Given the description of an element on the screen output the (x, y) to click on. 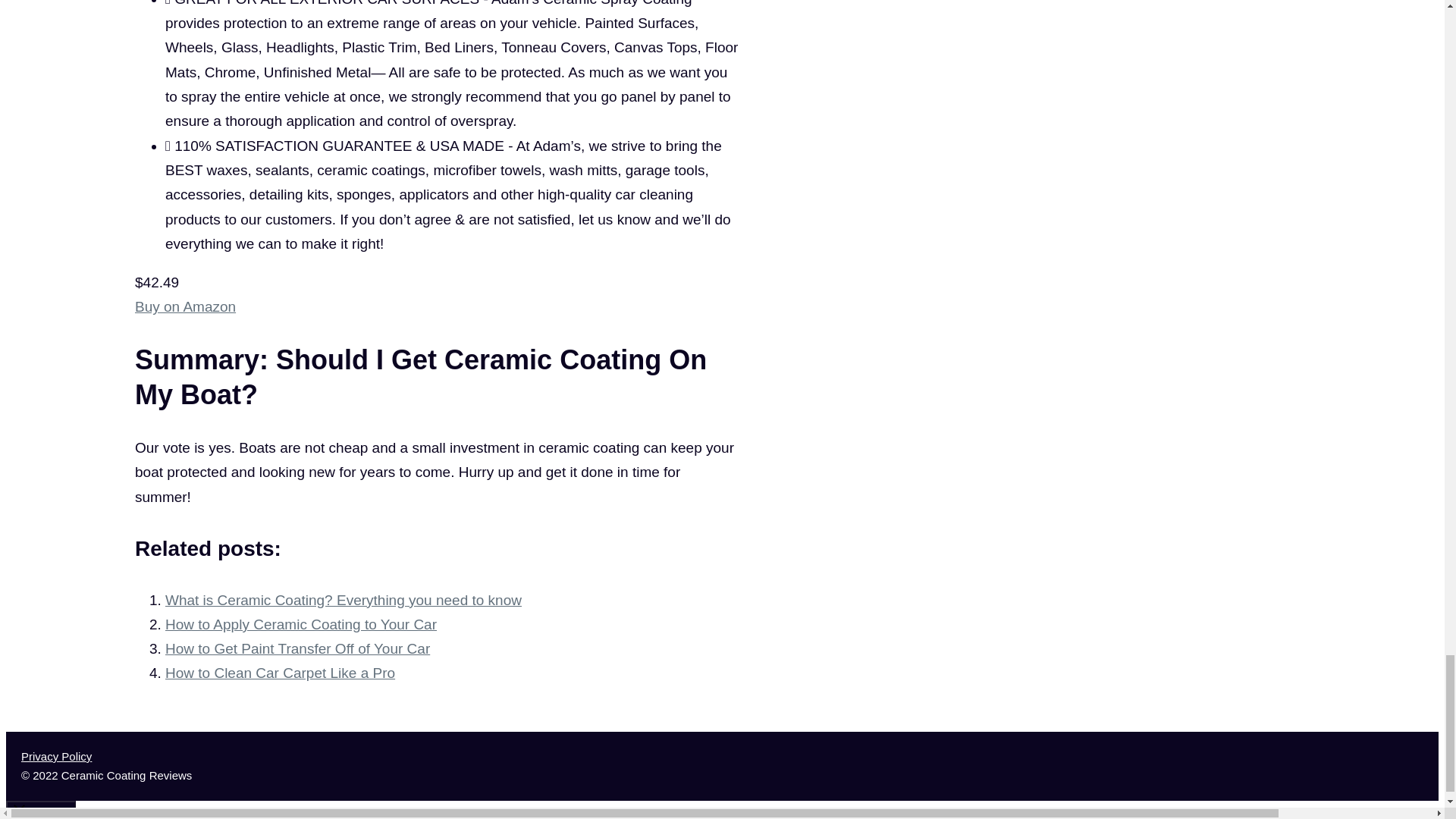
What is Ceramic Coating? Everything you need to know (343, 600)
How to Clean Car Carpet Like a Pro (279, 672)
Privacy Policy (56, 756)
Site by Codeprint Web Design (141, 753)
What is Ceramic Coating? Everything you need to know (343, 600)
How to Get Paint Transfer Off of Your Car (297, 648)
How to Apply Ceramic Coating to Your Car (300, 624)
How to Apply Ceramic Coating to Your Car (300, 624)
Buy on Amazon (185, 306)
Buy on Amazon (185, 306)
